Given the description of an element on the screen output the (x, y) to click on. 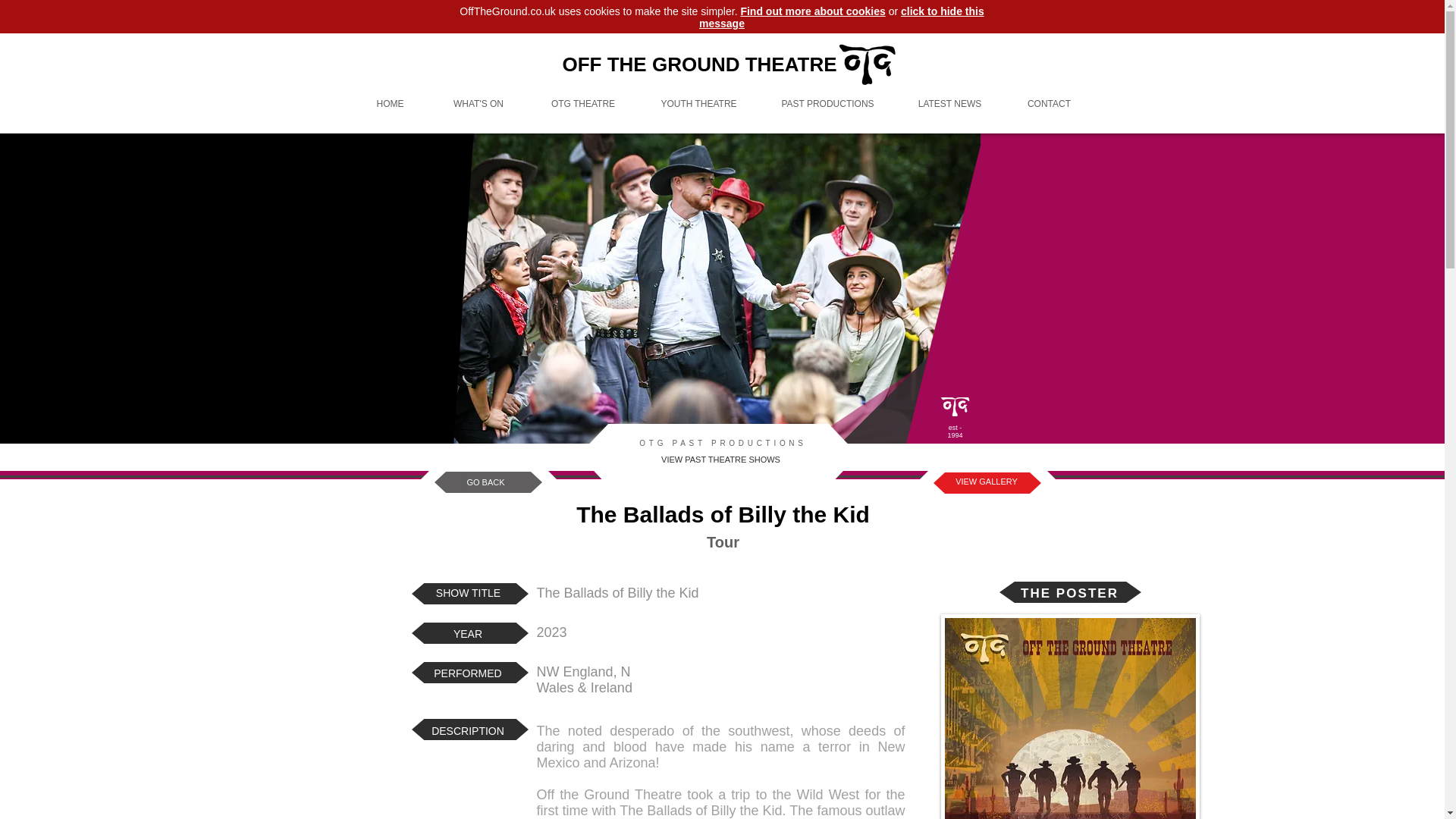
Ballads of Billy the Kid Poster - Blank.jpg (1069, 716)
GO BACK (485, 482)
PAST PRODUCTIONS (828, 104)
VIEW GALLERY (987, 482)
HOME (390, 104)
YOUTH THEATRE (699, 104)
OFF THE GROUND THEATRE (698, 64)
CONTACT (1049, 104)
Find out more about cookies (812, 10)
WHAT'S ON (478, 104)
